Given the description of an element on the screen output the (x, y) to click on. 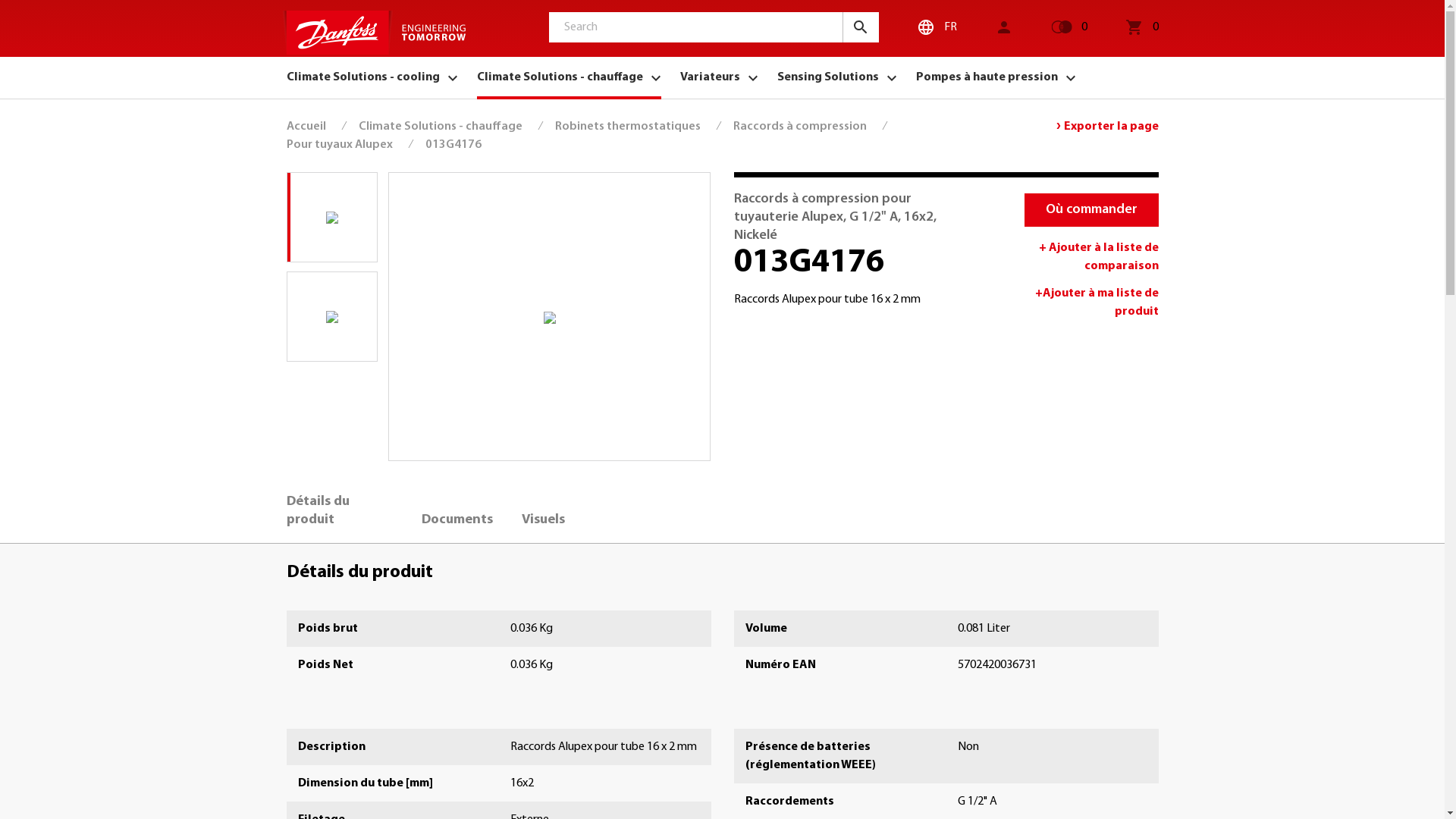
Accueil Element type: text (306, 126)
0 Element type: text (1122, 27)
Climate Solutions - cooling Element type: text (372, 77)
Documents Element type: text (456, 519)
Climate Solutions - chauffage Element type: text (568, 77)
Pour tuyaux Alupex Element type: text (339, 144)
Exporter la page Element type: text (1110, 126)
Climate Solutions - chauffage Element type: text (439, 126)
Sensing Solutions Element type: text (836, 77)
Visuels Element type: text (542, 519)
0 Element type: text (1050, 27)
Robinets thermostatiques Element type: text (627, 126)
Variateurs Element type: text (718, 77)
FR Element type: text (917, 27)
